Given the description of an element on the screen output the (x, y) to click on. 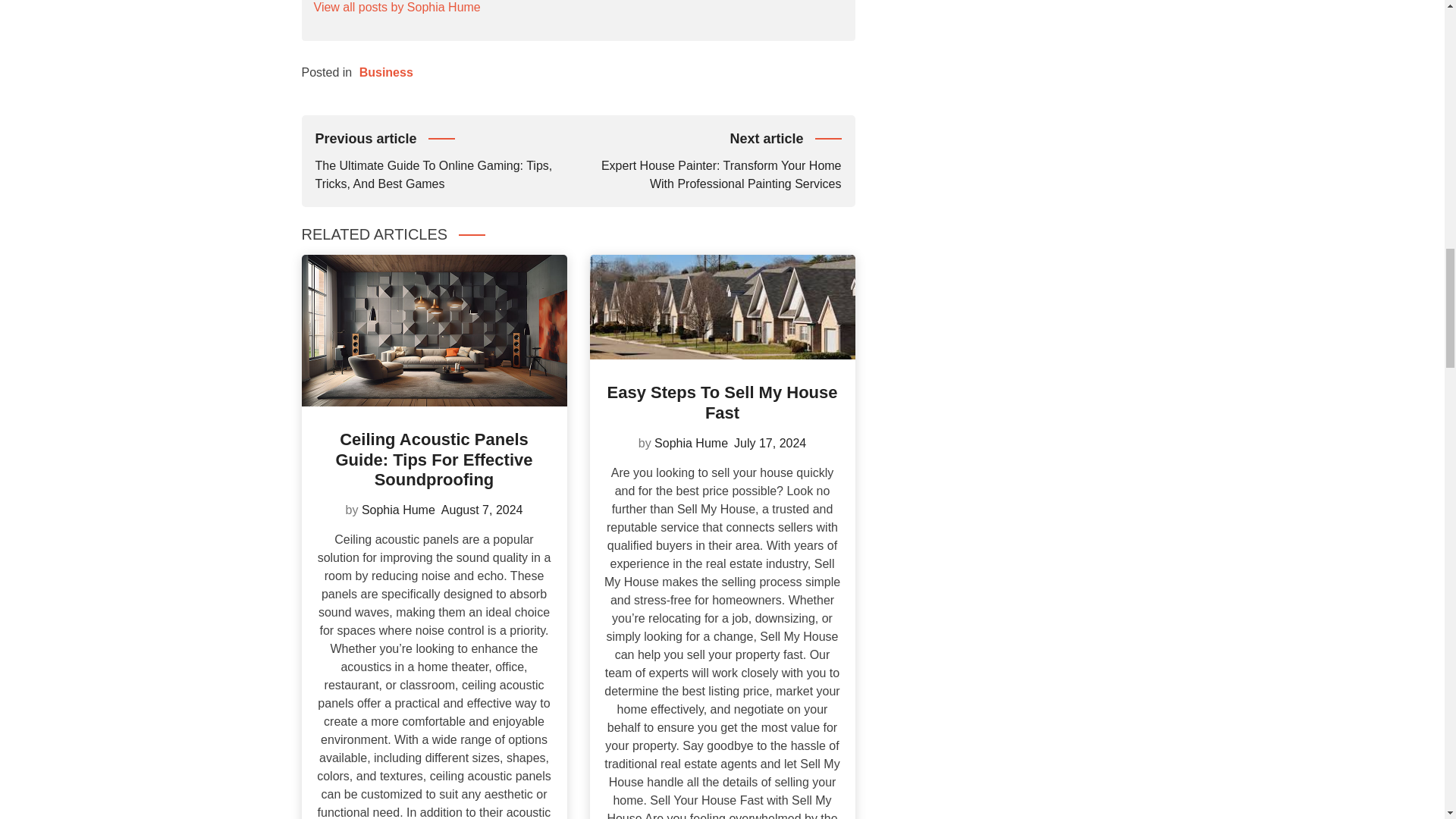
View all posts by Sophia Hume (397, 6)
Sophia Hume (690, 442)
Business (386, 72)
July 17, 2024 (769, 442)
August 7, 2024 (481, 509)
Easy Steps To Sell My House Fast (722, 402)
Sophia Hume (398, 509)
